Given the description of an element on the screen output the (x, y) to click on. 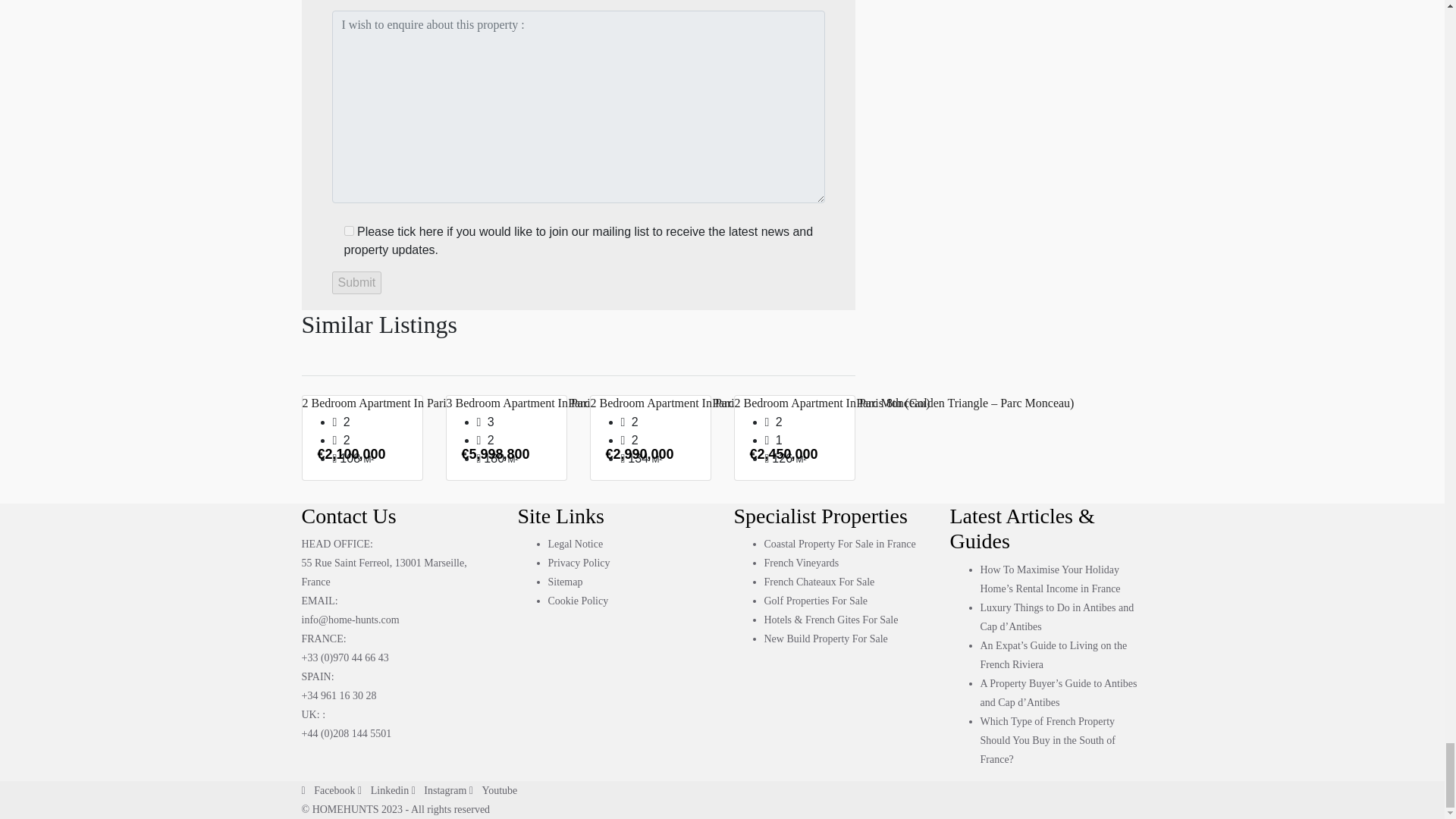
Submit (356, 282)
